Given the description of an element on the screen output the (x, y) to click on. 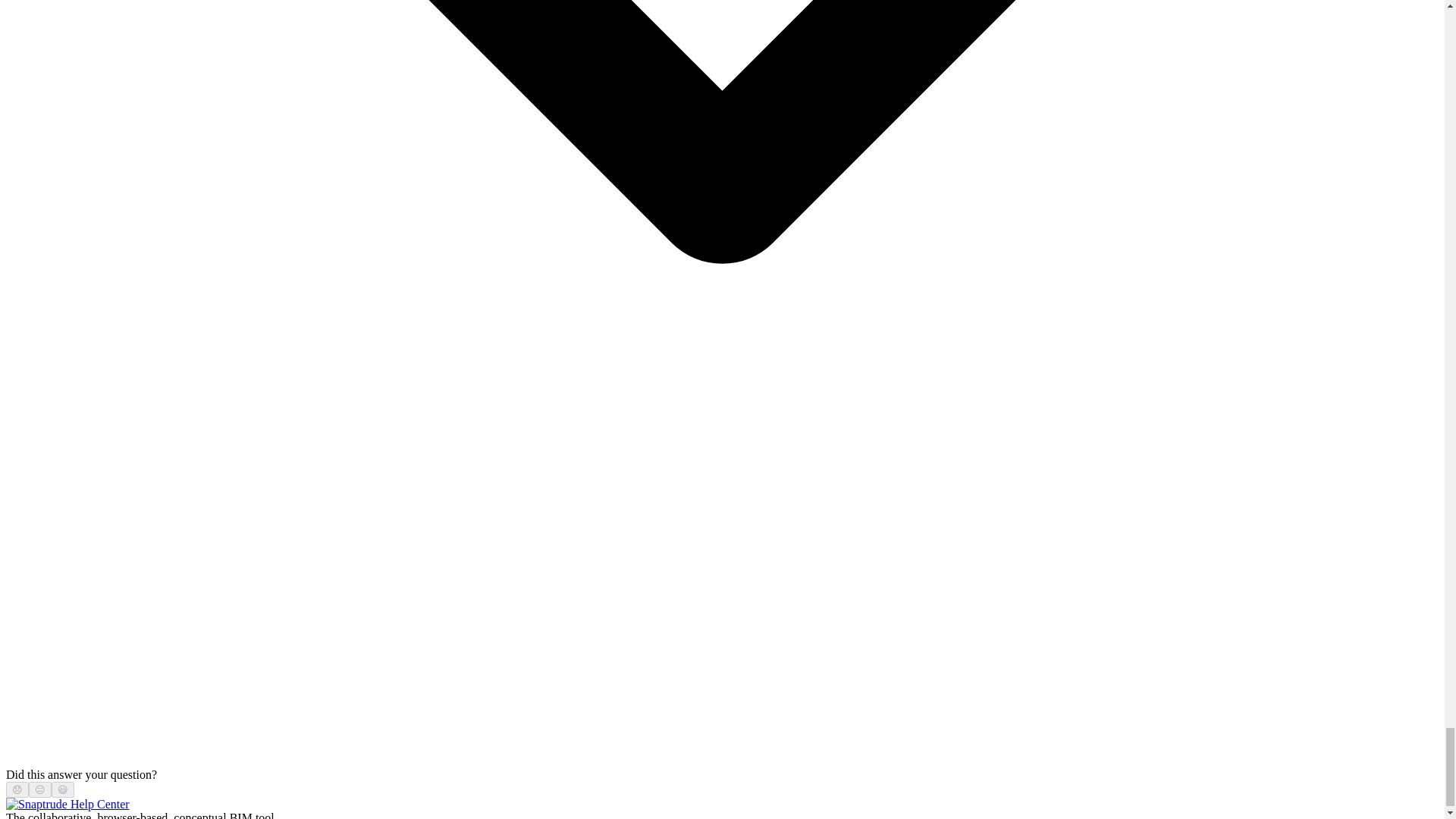
Smiley (63, 789)
Neutral (39, 789)
Disappointed (17, 789)
